Given the description of an element on the screen output the (x, y) to click on. 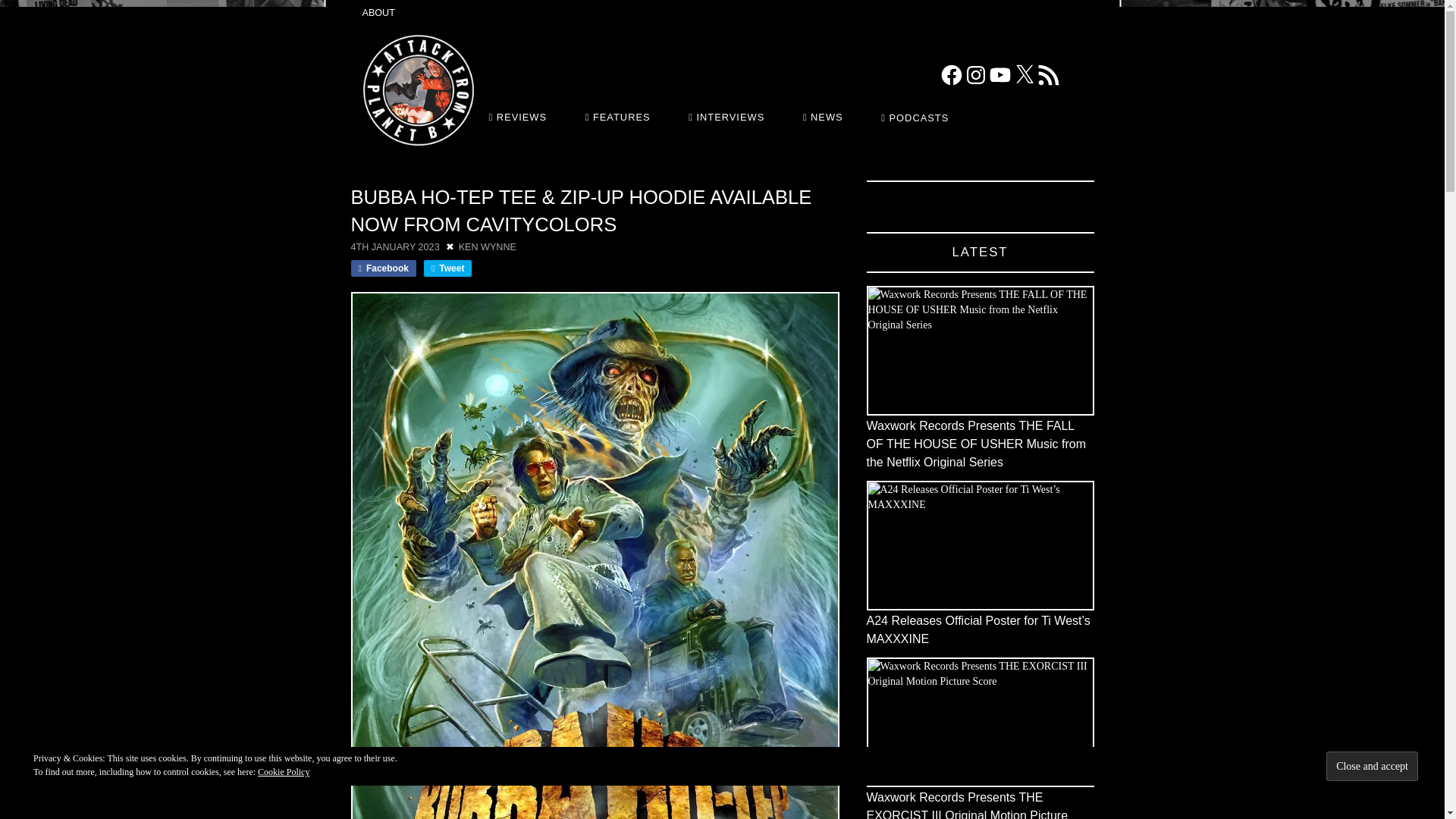
FEATURES (619, 117)
RSS Feed (1047, 74)
Film (410, 173)
Facebook (382, 268)
Tweet (447, 268)
NEWS (824, 117)
Comedy (361, 173)
Facebook (950, 74)
ABOUT (378, 13)
INTERVIEWS (727, 117)
Horror (434, 173)
YouTube (999, 74)
4TH JANUARY 2023 (394, 246)
KEN WYNNE (487, 246)
Close and accept (1372, 766)
